Given the description of an element on the screen output the (x, y) to click on. 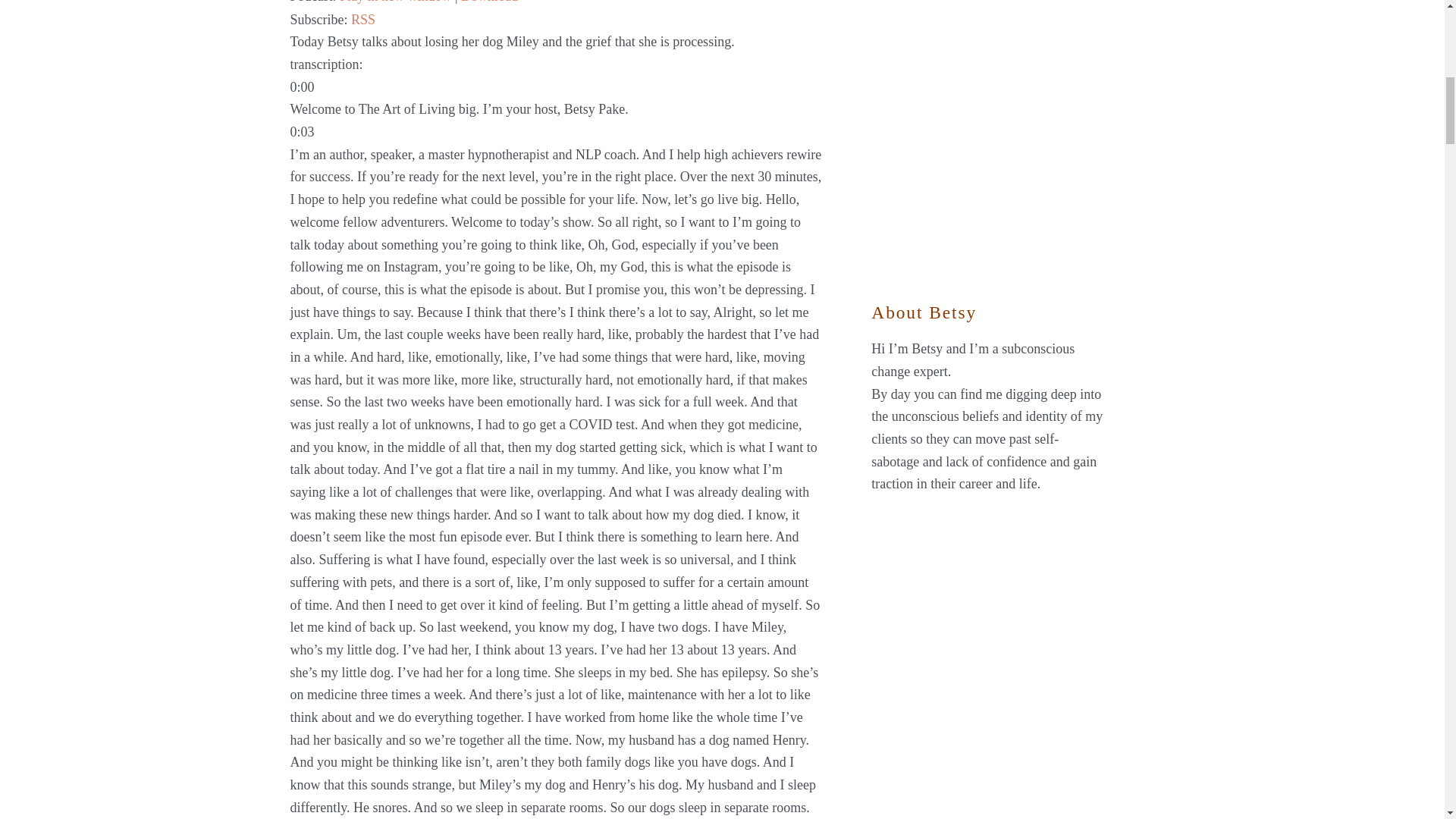
Download (489, 2)
Play in new window (395, 2)
Download (489, 2)
RSS (362, 19)
Subscribe via RSS (362, 19)
Play in new window (395, 2)
